Given the description of an element on the screen output the (x, y) to click on. 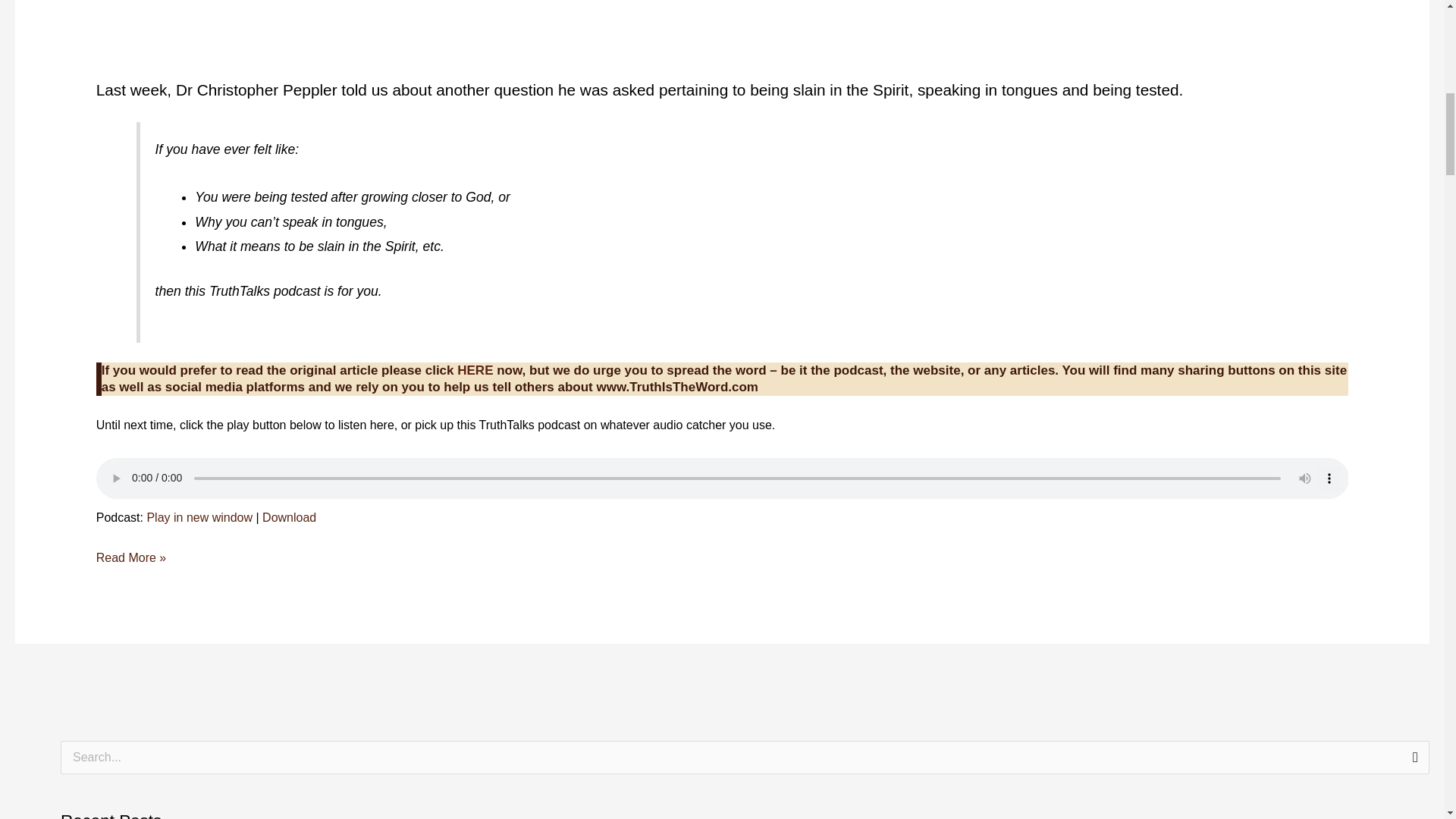
Download (288, 517)
Play in new window (199, 517)
Download (288, 517)
Play in new window (199, 517)
HERE (475, 370)
